Given the description of an element on the screen output the (x, y) to click on. 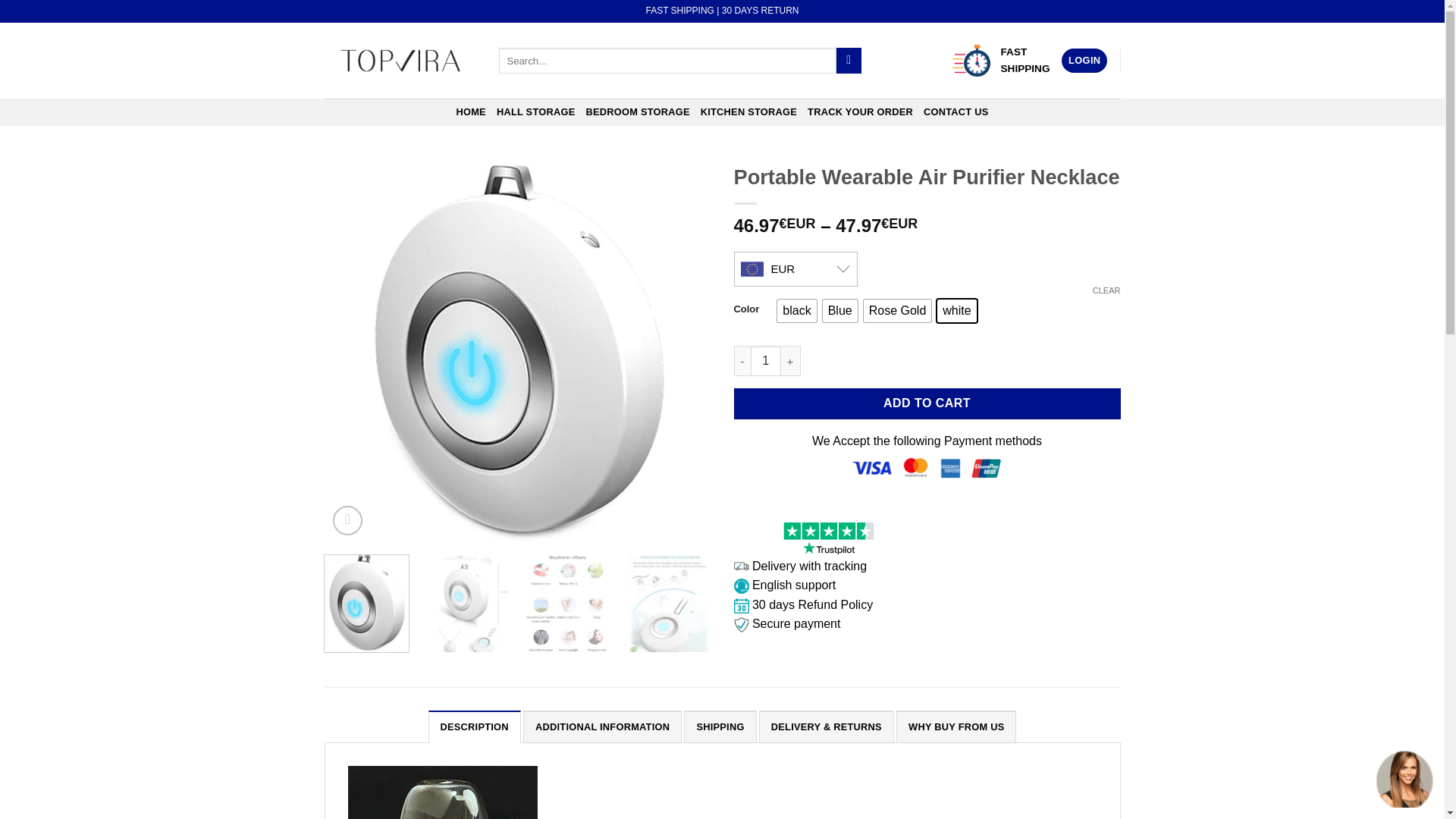
BEDROOM STORAGE (636, 112)
KITCHEN STORAGE (748, 112)
1 (765, 360)
Search (848, 60)
Topvira (400, 60)
TRACK YOUR ORDER (860, 112)
Fast Shipping (971, 60)
ADD TO CART (927, 403)
HALL STORAGE (535, 112)
Zoom (347, 520)
CONTACT US (955, 112)
CLEAR (1107, 290)
DESCRIPTION (474, 726)
